Given the description of an element on the screen output the (x, y) to click on. 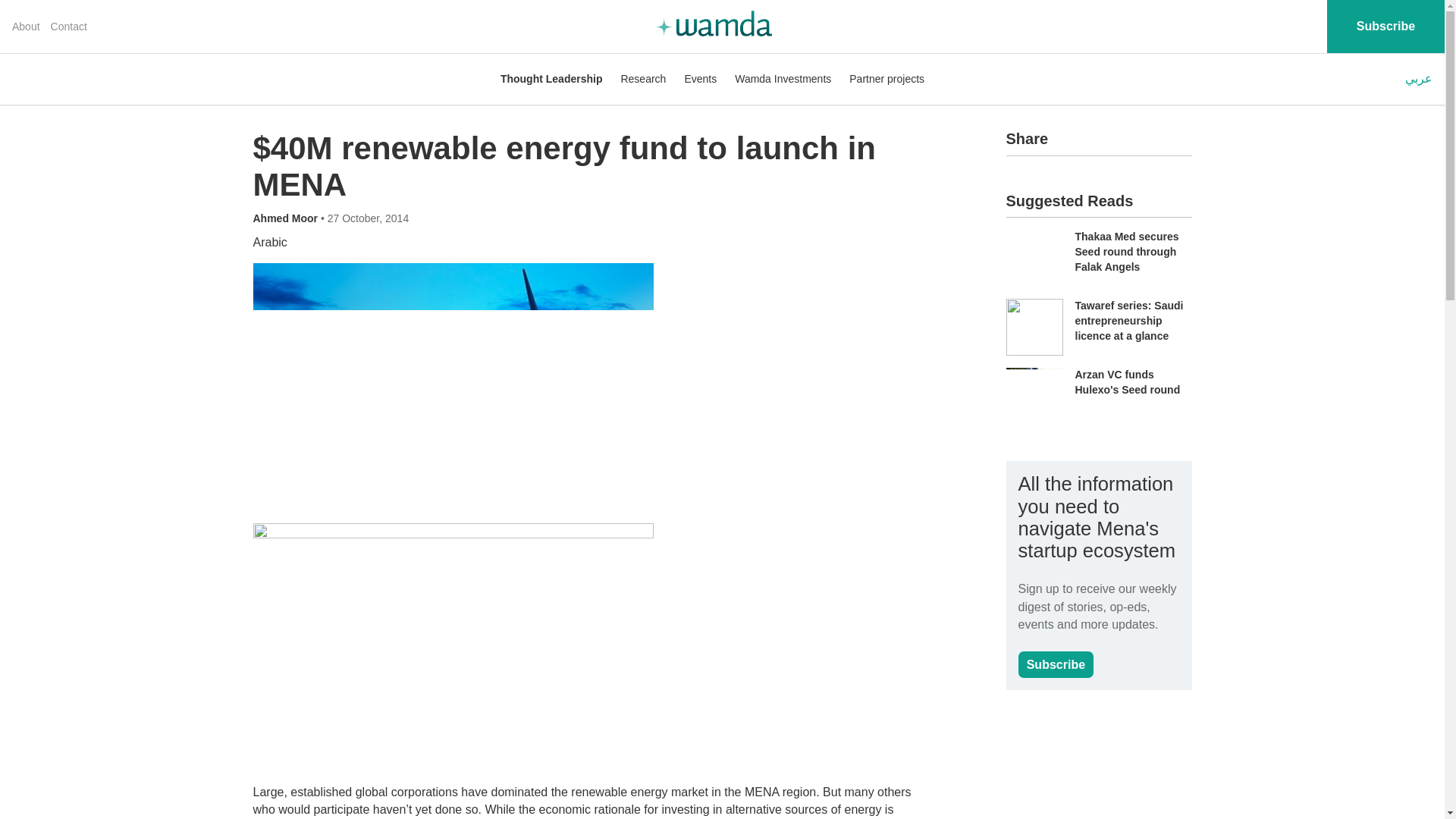
Tawaref series: Saudi entrepreneurship licence at a glance (1129, 320)
Partner projects (886, 79)
Contact (68, 26)
About (25, 26)
Thought Leadership (551, 79)
Subscribe (1055, 664)
Arzan VC funds Hulexo's Seed round (1127, 381)
Arabic (269, 241)
Wamda Investments (783, 79)
Research (642, 79)
